Given the description of an element on the screen output the (x, y) to click on. 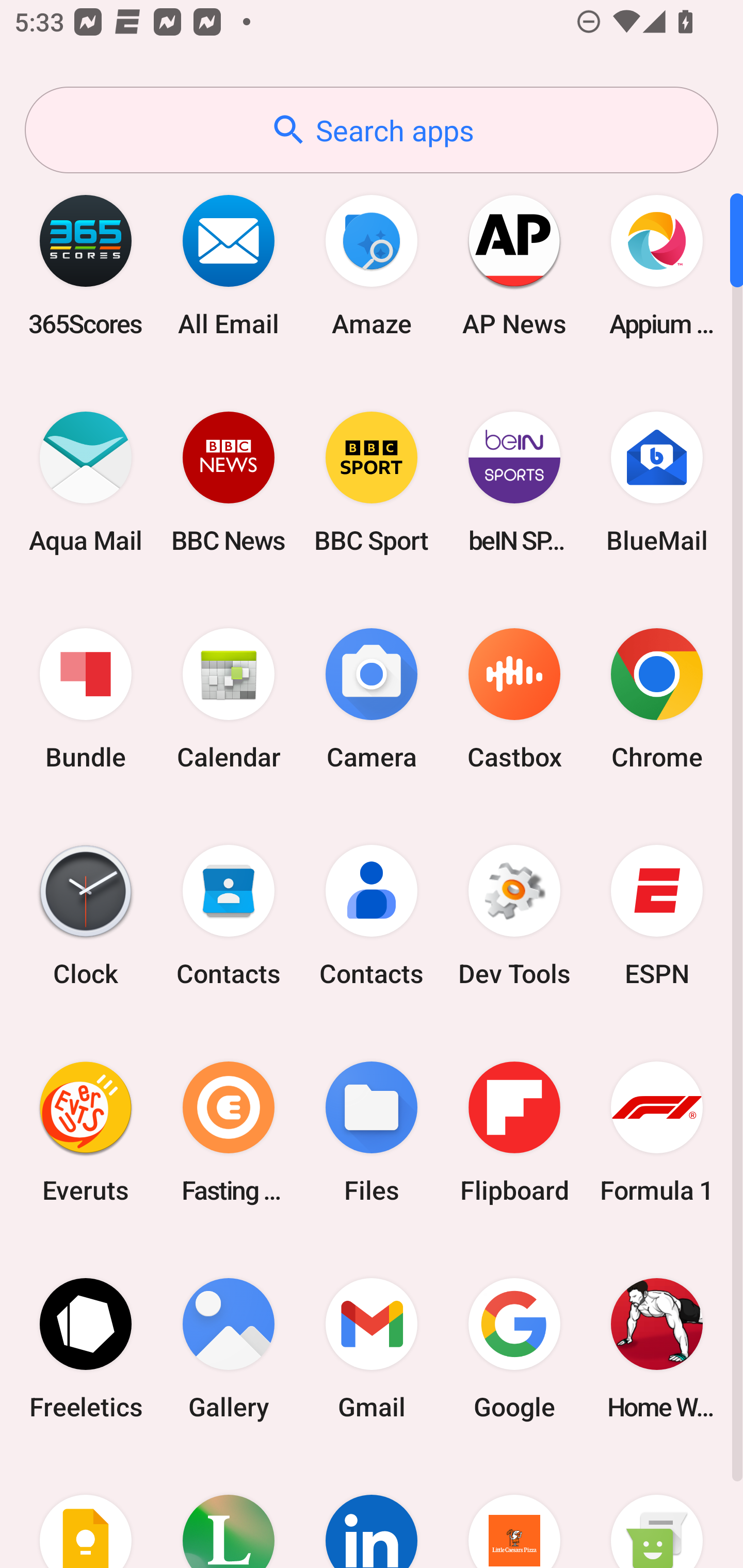
  Search apps (371, 130)
365Scores (85, 264)
All Email (228, 264)
Amaze (371, 264)
AP News (514, 264)
Appium Settings (656, 264)
Aqua Mail (85, 482)
BBC News (228, 482)
BBC Sport (371, 482)
beIN SPORTS (514, 482)
BlueMail (656, 482)
Bundle (85, 699)
Calendar (228, 699)
Camera (371, 699)
Castbox (514, 699)
Chrome (656, 699)
Clock (85, 915)
Contacts (228, 915)
Contacts (371, 915)
Dev Tools (514, 915)
ESPN (656, 915)
Everuts (85, 1131)
Fasting Coach (228, 1131)
Files (371, 1131)
Flipboard (514, 1131)
Formula 1 (656, 1131)
Freeletics (85, 1348)
Gallery (228, 1348)
Gmail (371, 1348)
Google (514, 1348)
Home Workout (656, 1348)
Keep Notes (85, 1512)
Lifesum (228, 1512)
LinkedIn (371, 1512)
Little Caesars Pizza (514, 1512)
Messaging (656, 1512)
